Given the description of an element on the screen output the (x, y) to click on. 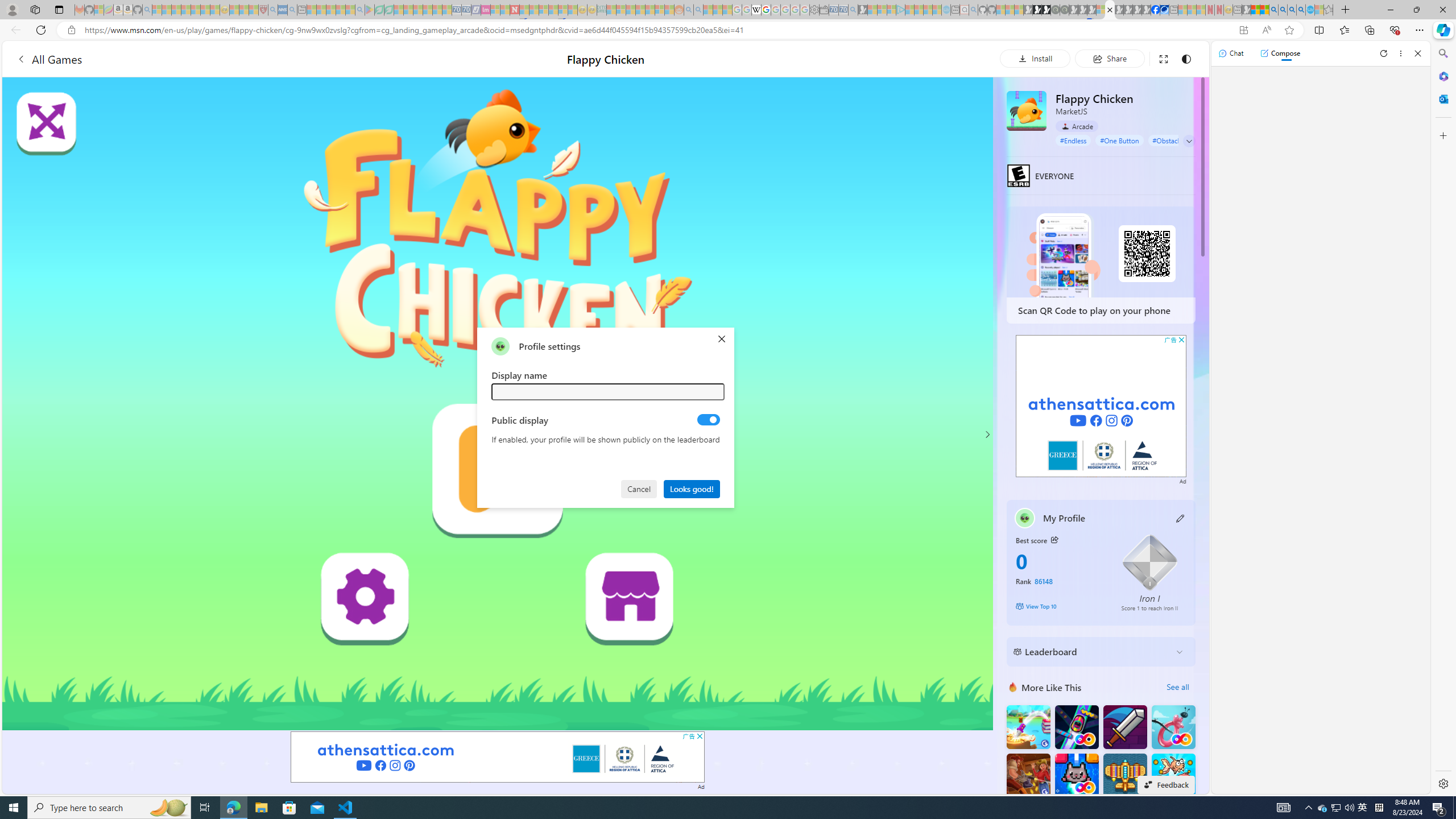
Chat (1230, 52)
""'s avatar (500, 345)
